Given the description of an element on the screen output the (x, y) to click on. 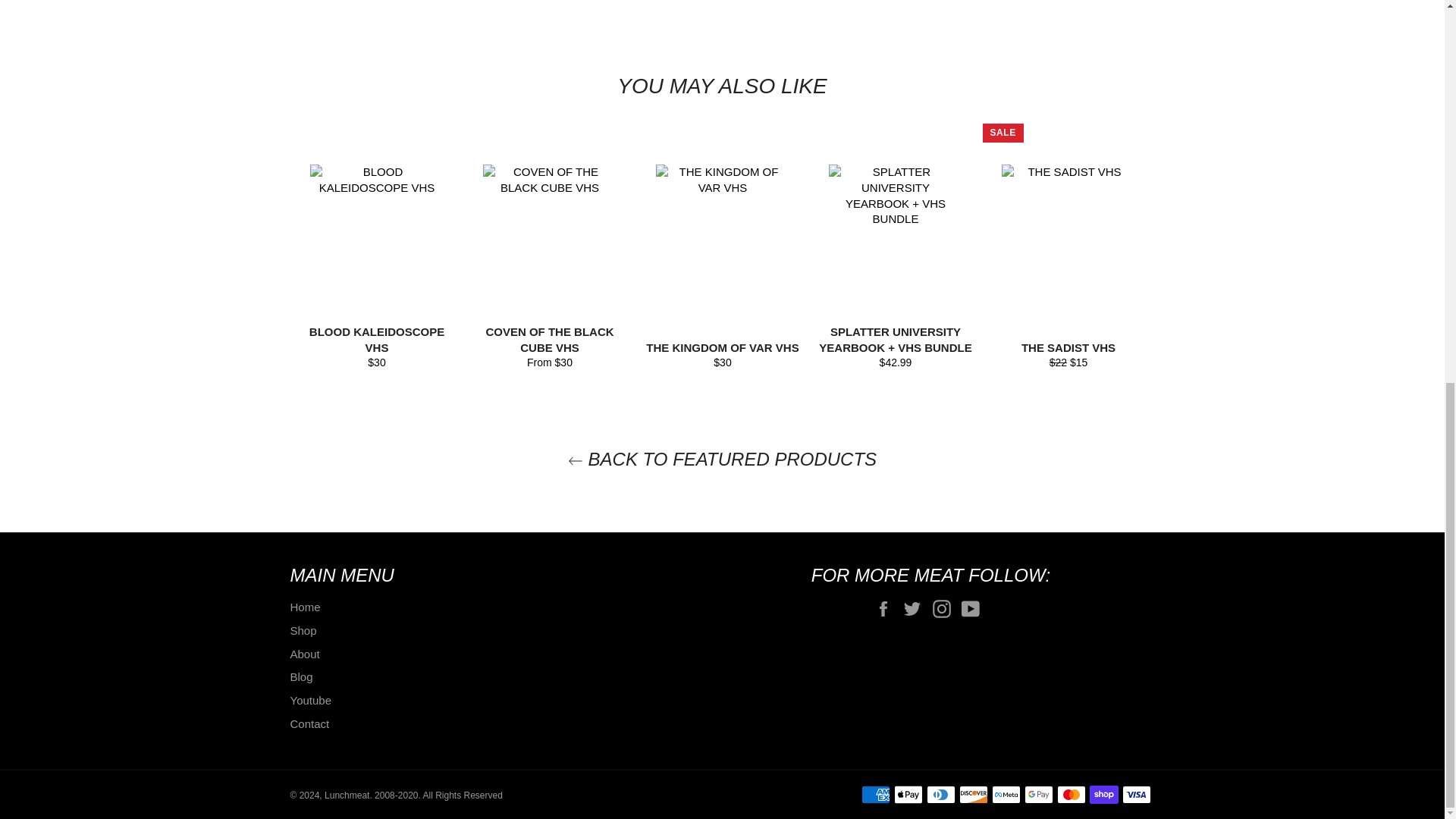
Lunchmeat on YouTube (973, 608)
Lunchmeat on Instagram (945, 608)
Lunchmeat on Twitter (915, 608)
Lunchmeat on Facebook (887, 608)
